Given the description of an element on the screen output the (x, y) to click on. 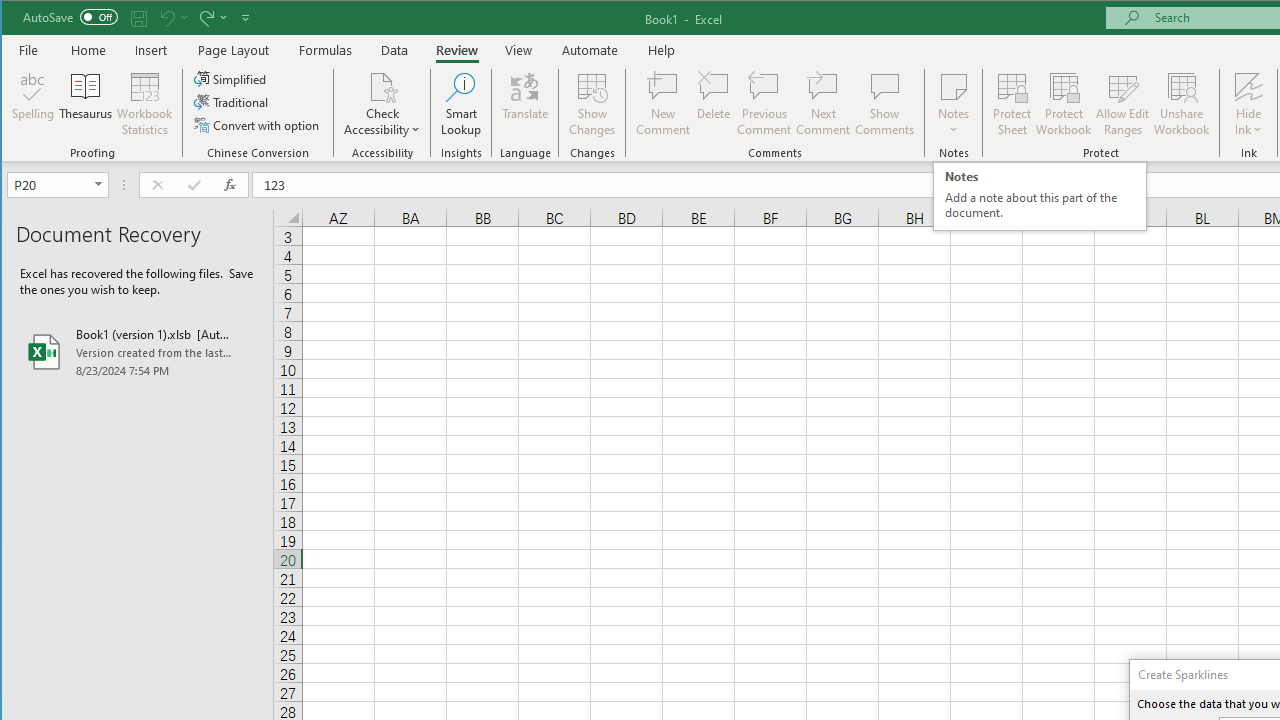
Allow Edit Ranges (1123, 104)
Previous Comment (763, 104)
Show Changes (592, 104)
New Comment (662, 104)
Convert with option (258, 124)
Notes (954, 104)
